Given the description of an element on the screen output the (x, y) to click on. 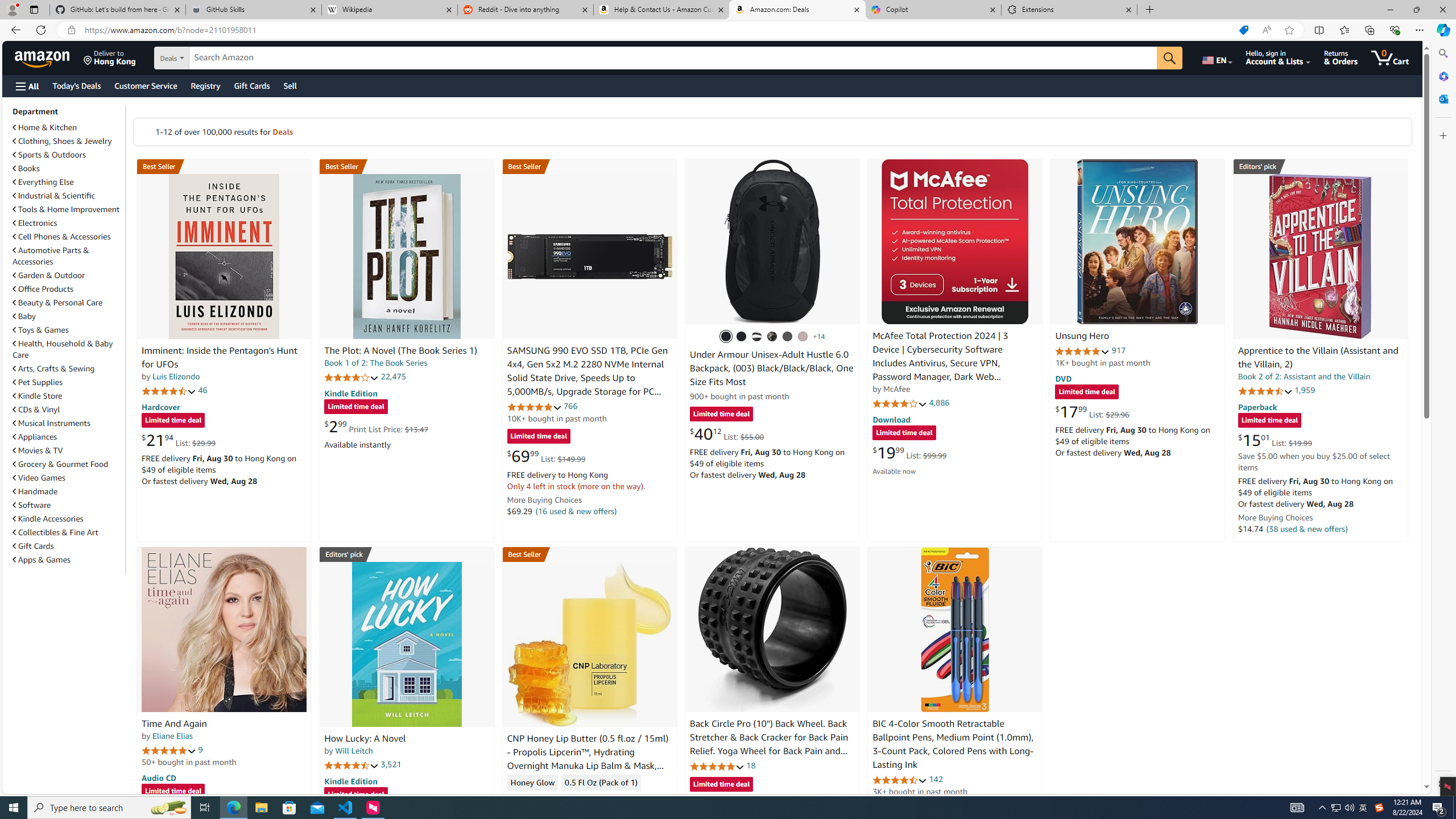
Baby (24, 316)
Collectibles & Fine Art (67, 532)
Editors' pick Best Mystery, Thriller & Suspense (406, 553)
4.3 out of 5 stars (534, 799)
Search Amazon (673, 57)
9 (200, 749)
$69.99 List: $149.99 (545, 455)
Automotive Parts & Accessories (50, 255)
Tools & Home Improvement (66, 208)
Grocery & Gourmet Food (67, 464)
